Given the description of an element on the screen output the (x, y) to click on. 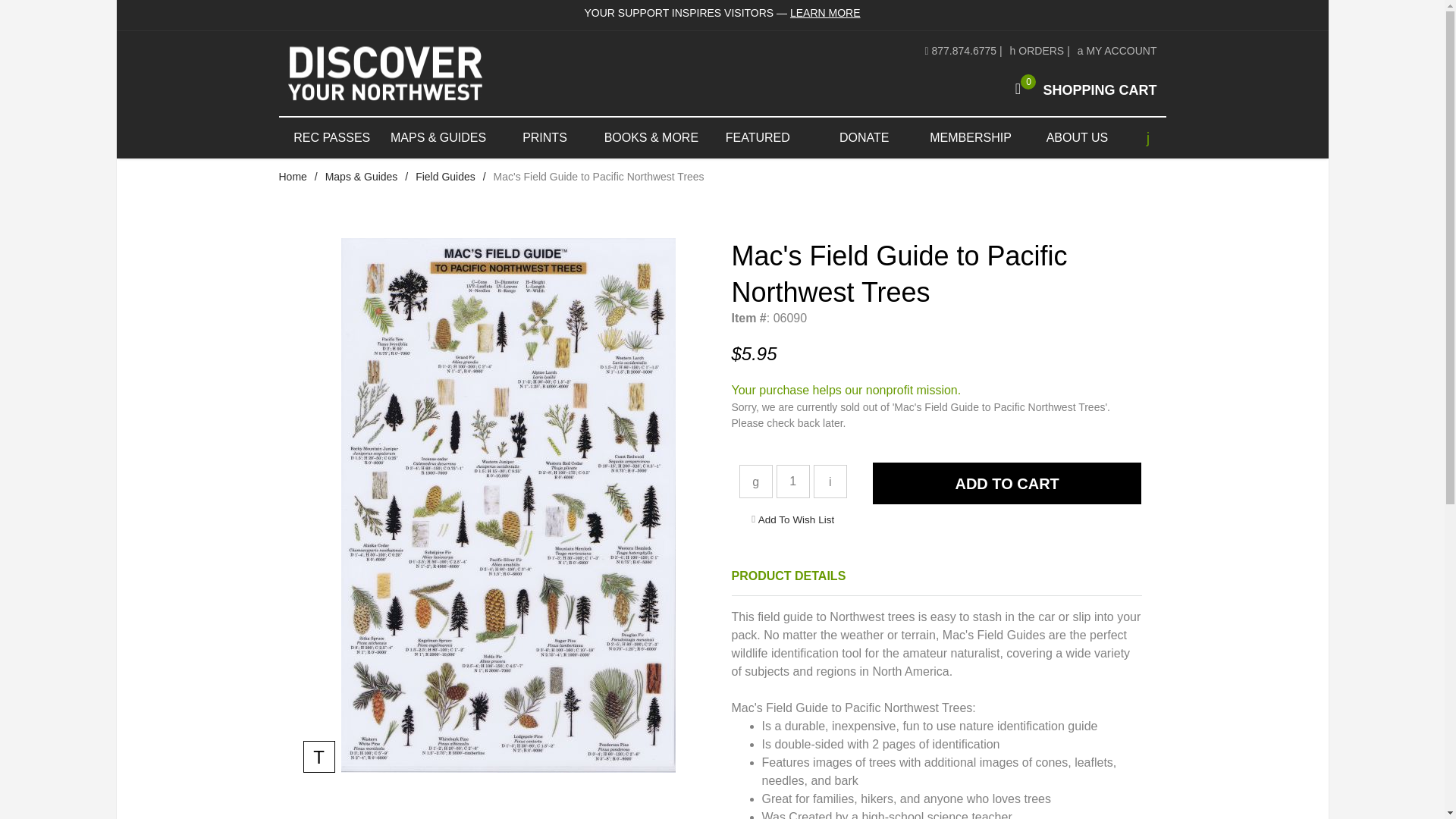
ORDERS (1037, 50)
MY ACCOUNT (1117, 50)
Add To Wish List (796, 519)
DiscoverNW.org (427, 73)
REC PASSES (332, 137)
LEARN MORE (825, 12)
Add To Wish List (796, 519)
Field Guides (1081, 89)
1 (445, 176)
Field Guides (792, 481)
Home (445, 176)
Add to Cart (293, 176)
Your purchase helps our nonprofit mission. (1006, 483)
MEMBERSHIP (845, 390)
